Given the description of an element on the screen output the (x, y) to click on. 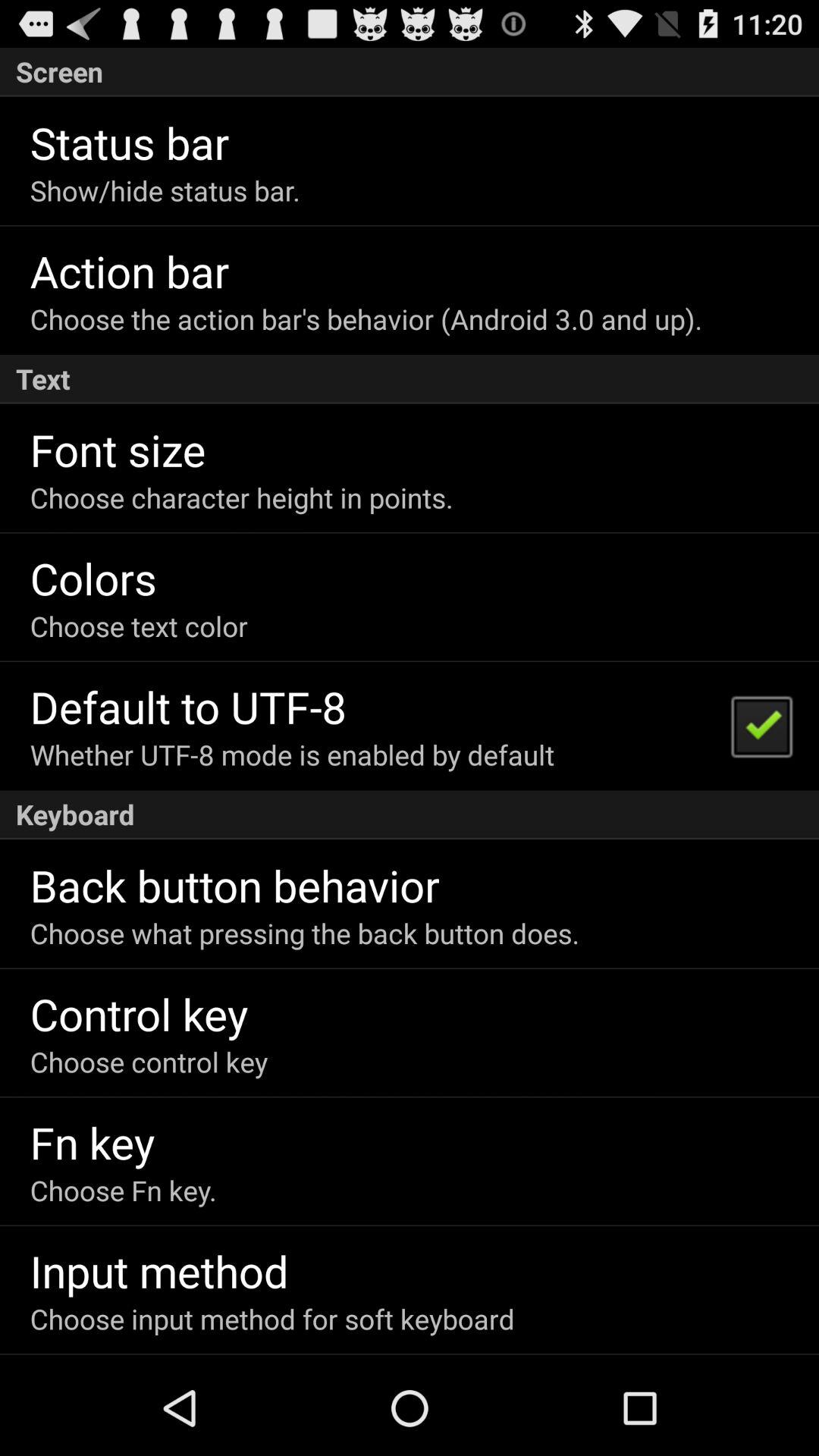
turn off the item above the control key icon (304, 933)
